Given the description of an element on the screen output the (x, y) to click on. 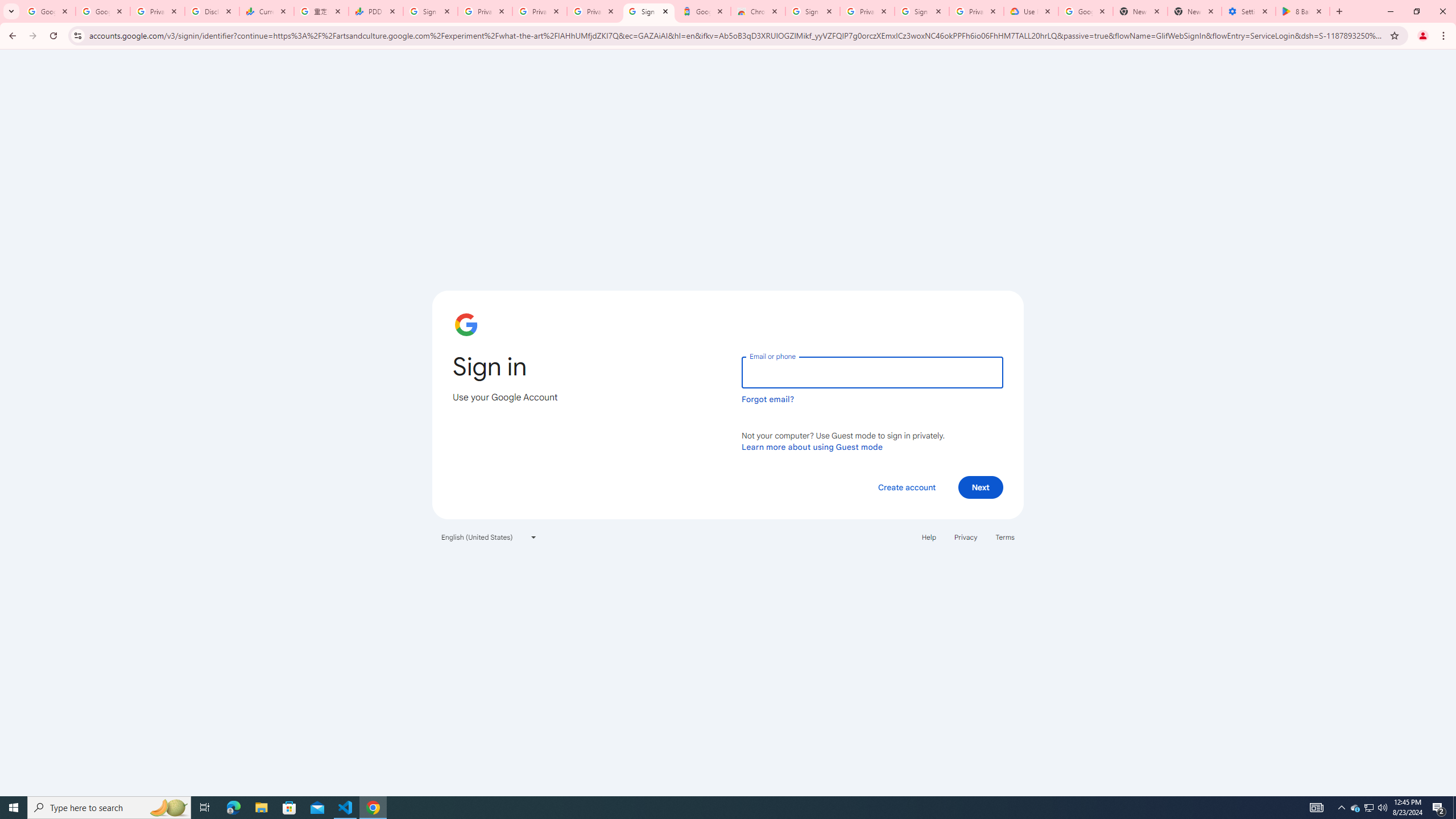
Privacy Checkup (539, 11)
Sign in - Google Accounts (921, 11)
Learn more about using Guest mode (812, 446)
Terms (1005, 536)
Google (703, 11)
PDD Holdings Inc - ADR (PDD) Price & News - Google Finance (375, 11)
Privacy Checkup (594, 11)
